Given the description of an element on the screen output the (x, y) to click on. 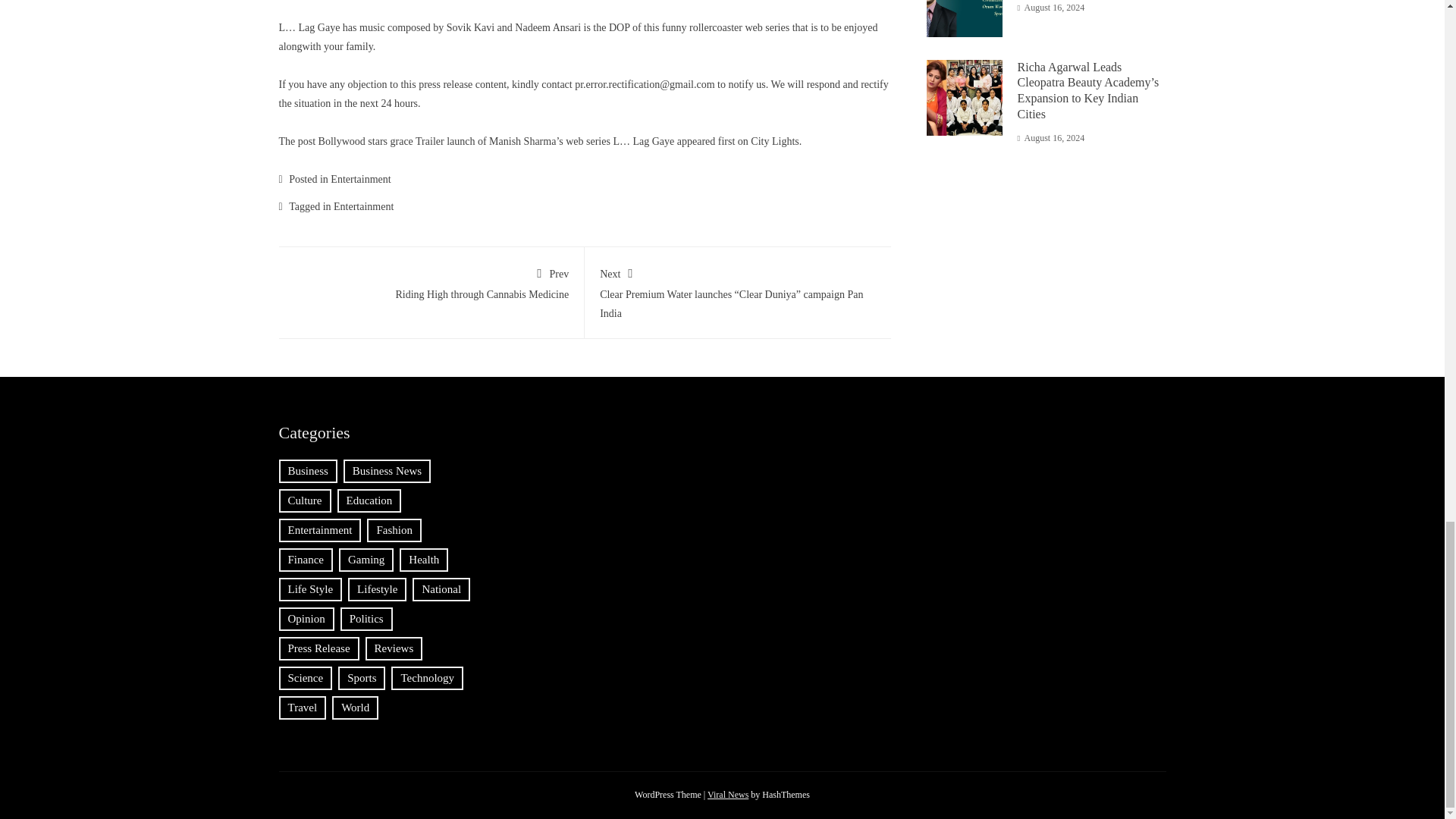
Entertainment (360, 179)
Download Viral News (727, 794)
Entertainment (431, 281)
City Lights (363, 206)
